Given the description of an element on the screen output the (x, y) to click on. 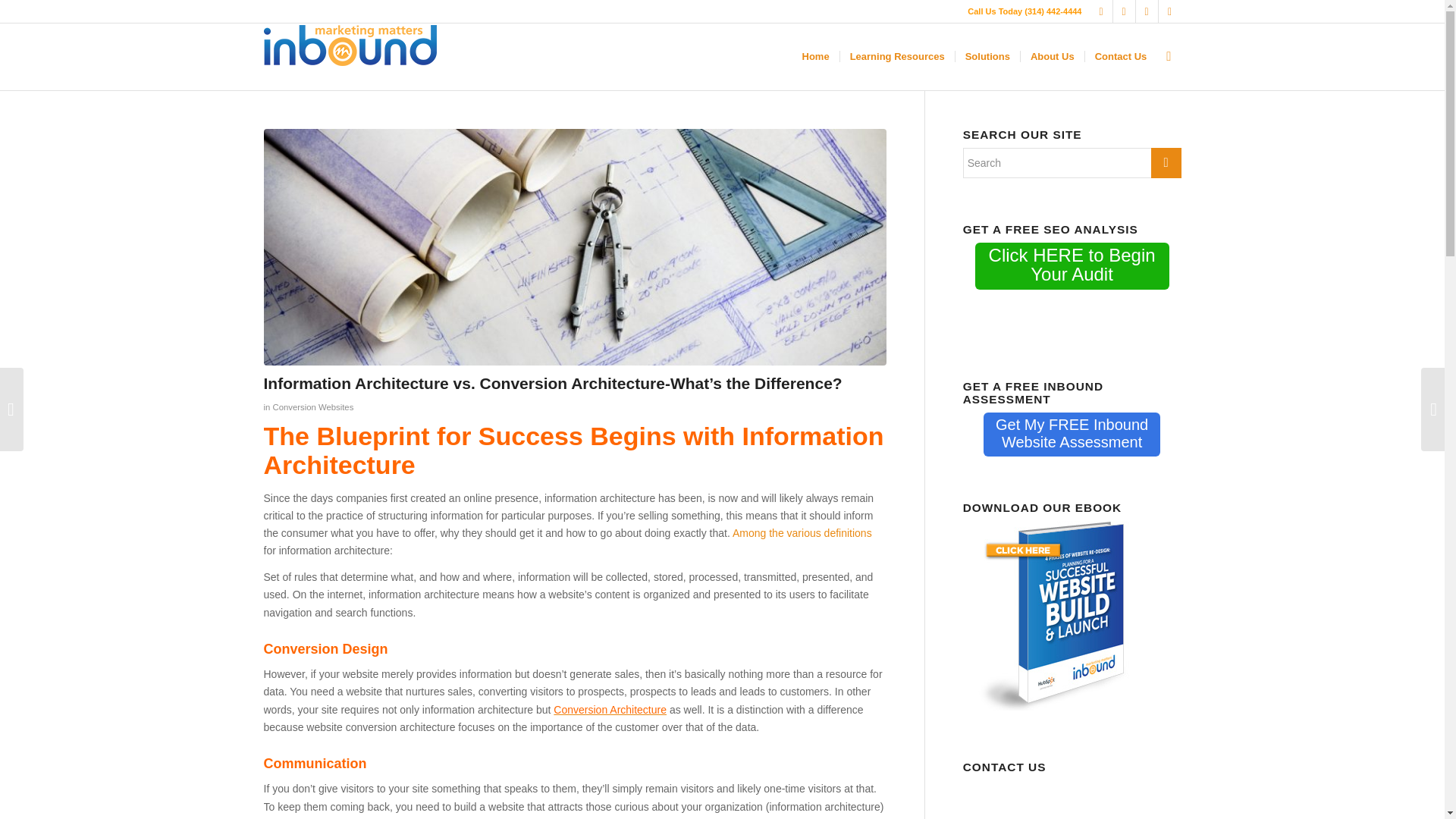
Among the various definitions (802, 532)
LinkedIn (1124, 11)
Contact Us (1120, 56)
Twitter (1169, 11)
Website Architecture (609, 709)
Conversion Architecture (1072, 434)
Learning Resources (609, 709)
marketing-matters-inbound-site-logo (897, 56)
About Us (349, 44)
Conversion Websites (1052, 56)
Facebook (312, 406)
Youtube (1101, 11)
Solutions (1146, 11)
